Given the description of an element on the screen output the (x, y) to click on. 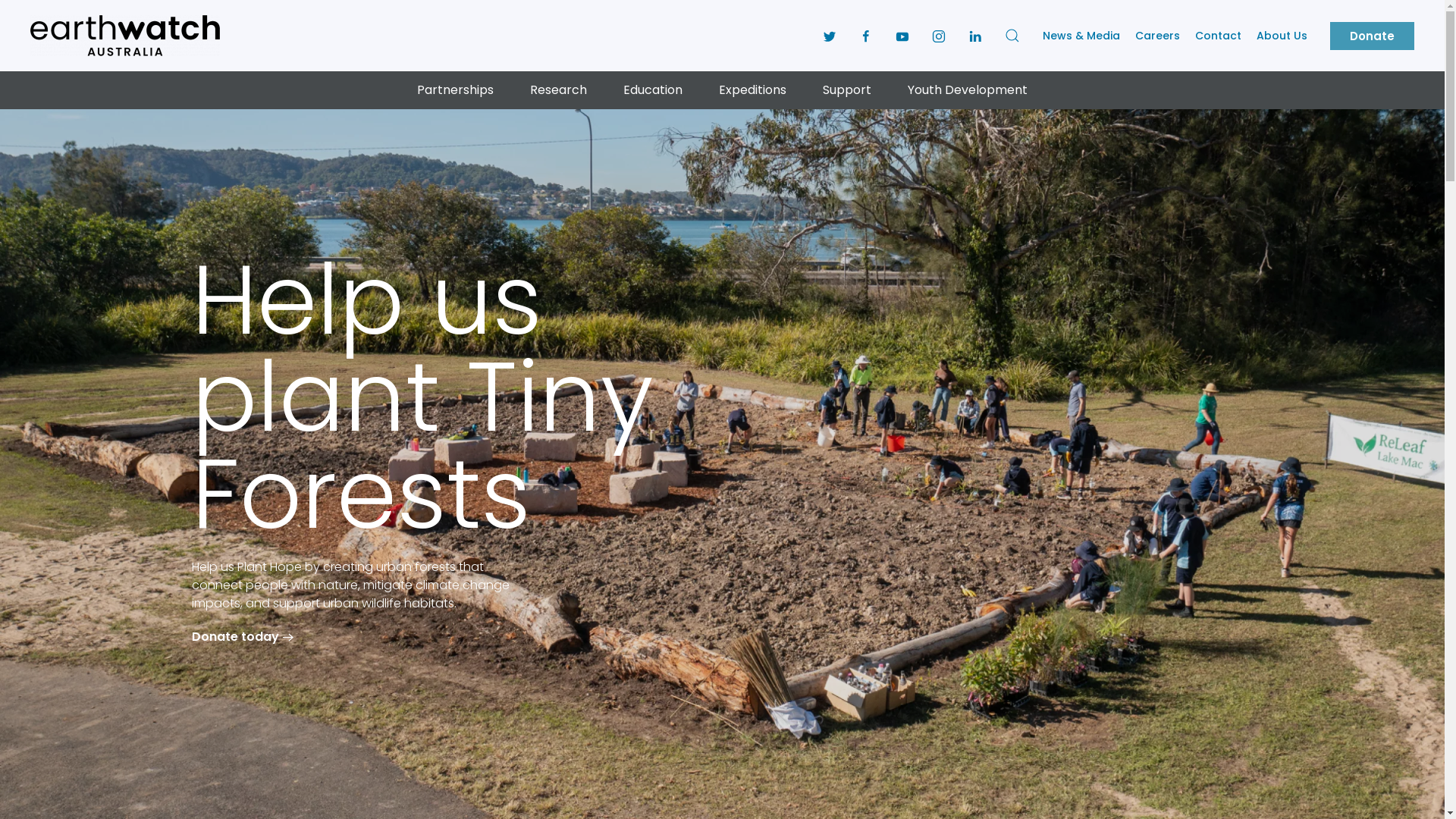
Research Element type: text (558, 90)
Youth Development Element type: text (967, 90)
Education Element type: text (652, 90)
News & Media Element type: text (1081, 35)
Partnerships Element type: text (455, 90)
Contact Element type: text (1218, 35)
Expeditions Element type: text (752, 90)
Support Element type: text (846, 90)
Donate Element type: text (1372, 35)
Careers Element type: text (1157, 35)
Donate today Element type: text (244, 636)
About Us Element type: text (1281, 35)
